Given the description of an element on the screen output the (x, y) to click on. 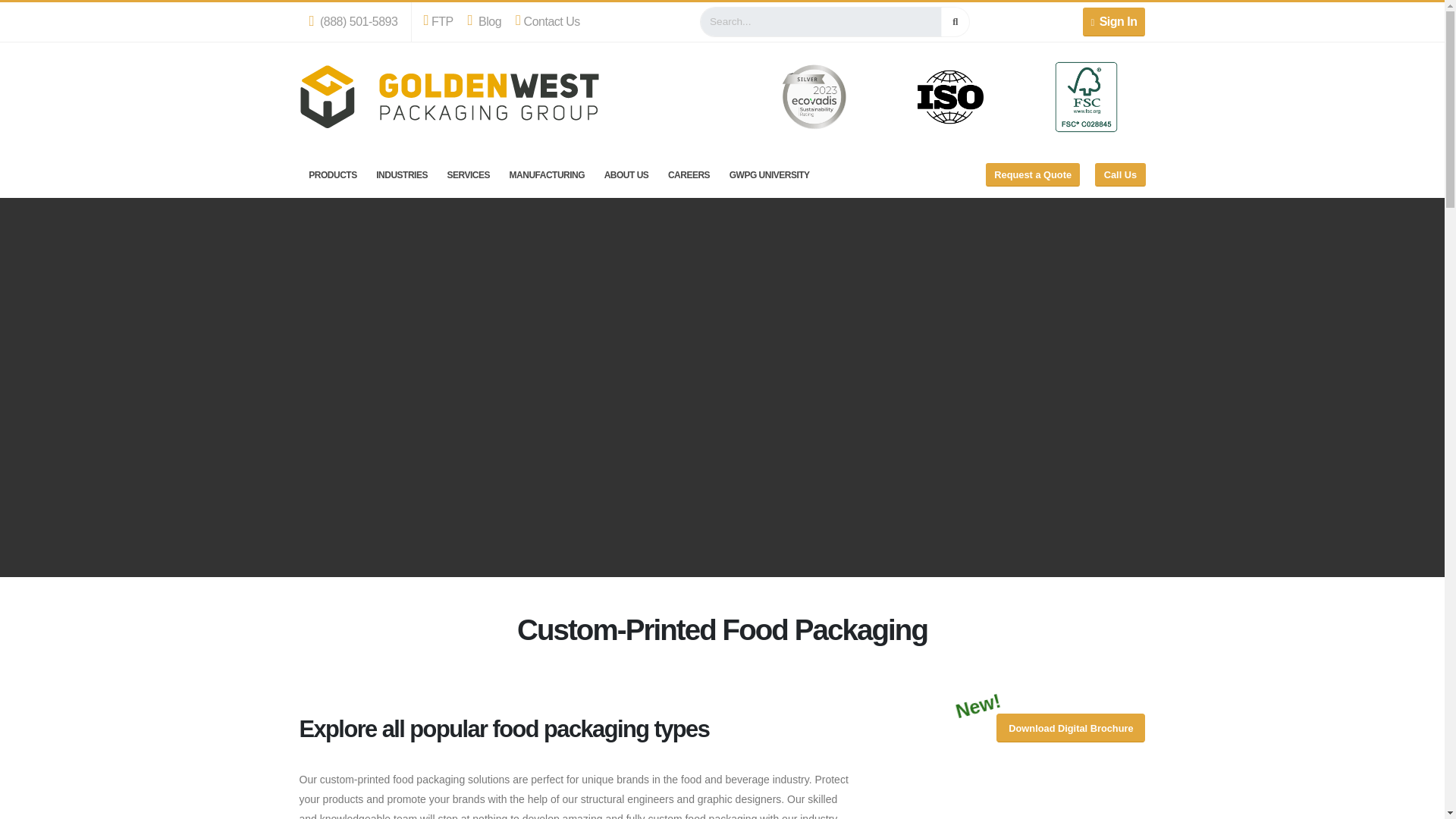
SERVICES (468, 175)
Contact Us (548, 22)
Golden West Packaging Group (448, 96)
INDUSTRIES (401, 175)
FTP (441, 22)
Blog (484, 22)
Sign In (1114, 21)
PRODUCTS (332, 175)
